Given the description of an element on the screen output the (x, y) to click on. 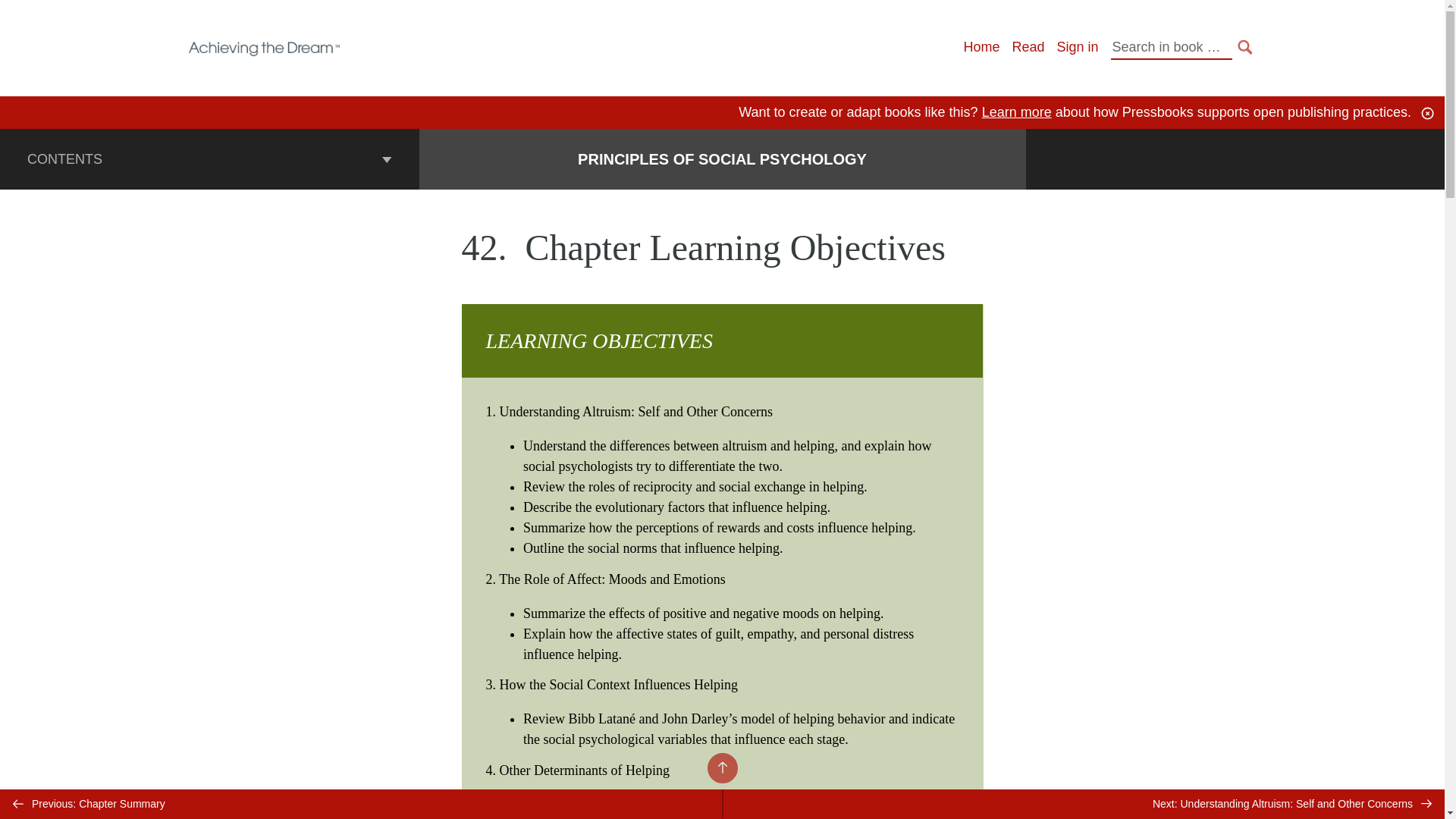
PRINCIPLES OF SOCIAL PSYCHOLOGY (722, 159)
CONTENTS (209, 158)
Previous: Chapter Summary (361, 804)
Learn more (1016, 111)
BACK TO TOP (721, 767)
Previous: Chapter Summary (361, 804)
Read (1027, 46)
Home (980, 46)
Sign in (1077, 46)
